Given the description of an element on the screen output the (x, y) to click on. 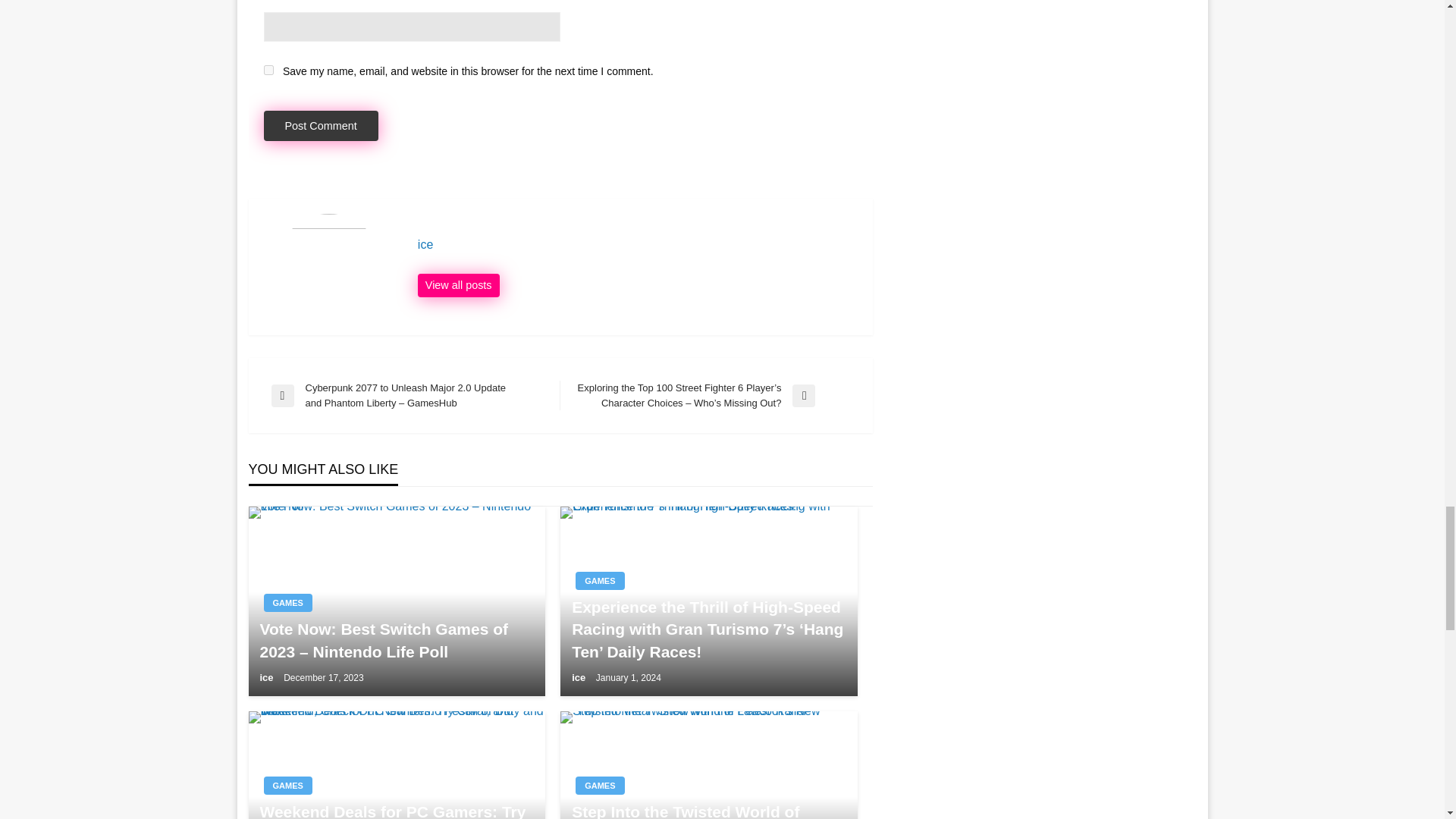
GAMES (599, 785)
yes (268, 70)
Post Comment (320, 125)
ice (637, 244)
GAMES (288, 602)
ice (637, 244)
ice (458, 285)
GAMES (599, 580)
View all posts (458, 285)
Post Comment (320, 125)
ice (580, 677)
GAMES (288, 785)
ice (267, 677)
